Given the description of an element on the screen output the (x, y) to click on. 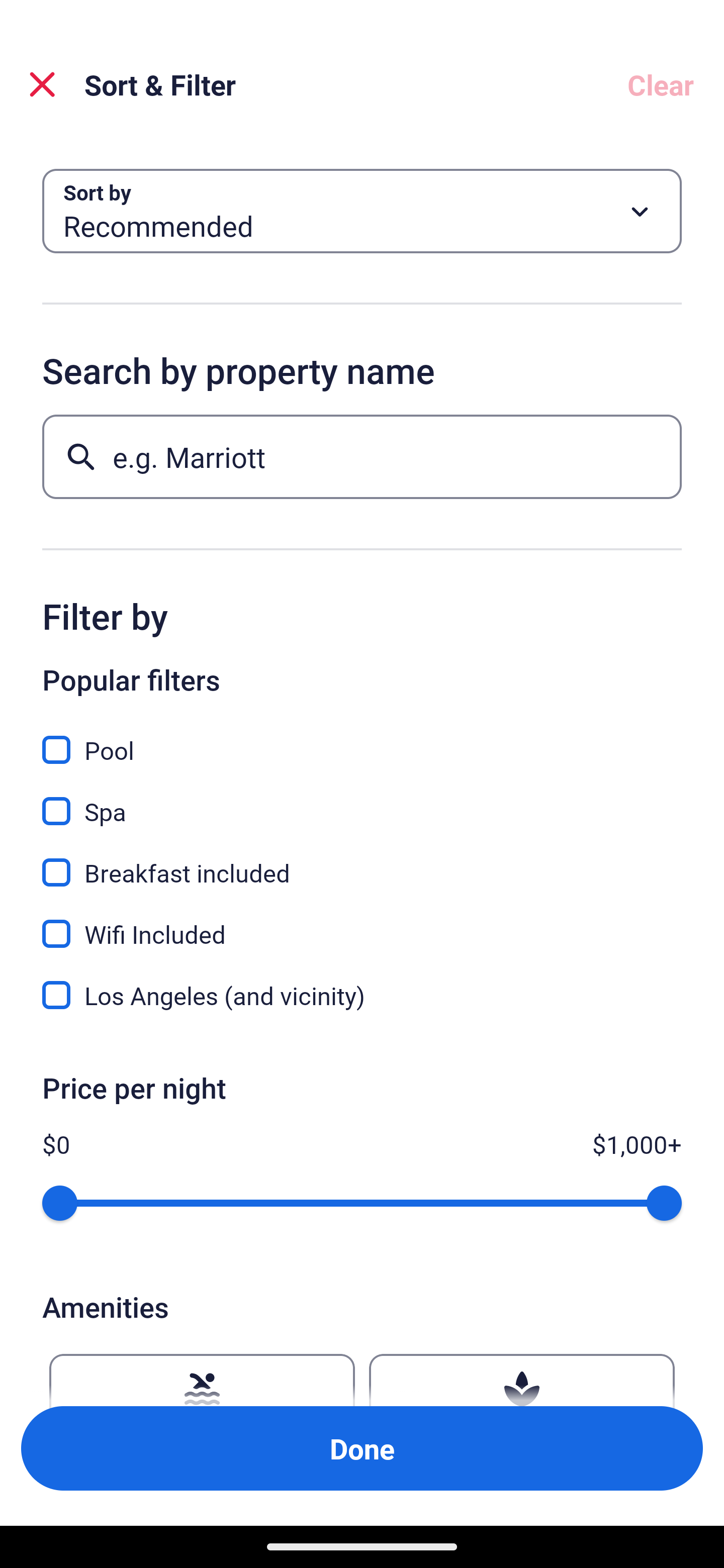
Close Sort and Filter (42, 84)
Clear (660, 84)
Sort by Button Recommended (361, 211)
e.g. Marriott Button (361, 455)
Pool, Pool (361, 738)
Spa, Spa (361, 800)
Breakfast included, Breakfast included (361, 861)
Wifi Included, Wifi Included (361, 922)
Apply and close Sort and Filter Done (361, 1448)
